Given the description of an element on the screen output the (x, y) to click on. 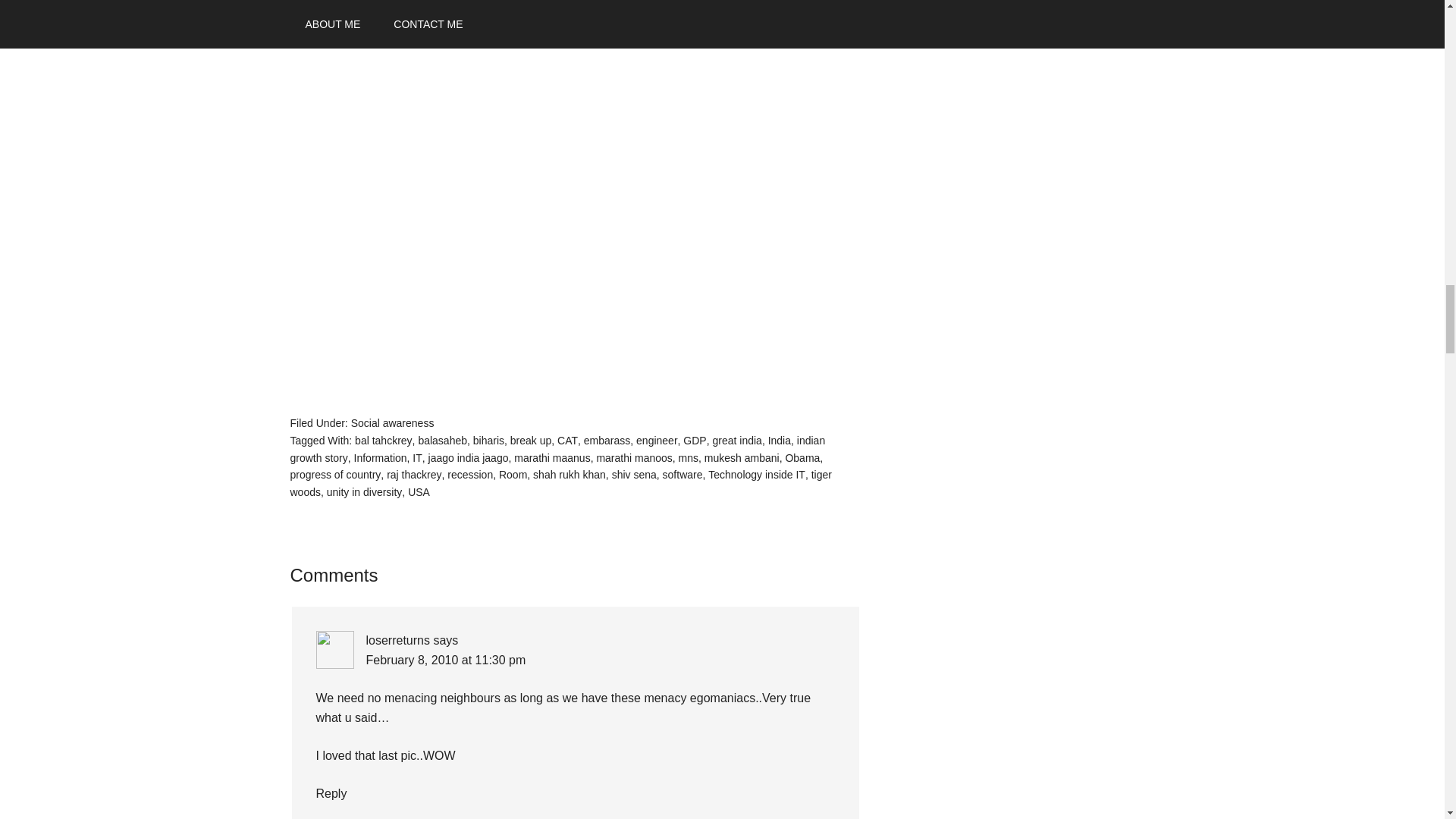
jaago india jaago (468, 458)
Technology inside IT (756, 474)
progress of country (334, 474)
mukesh ambani (741, 458)
raj thackrey (414, 474)
break up (531, 440)
Room (513, 474)
marathi manoos (633, 458)
mns (688, 458)
shah rukh khan (568, 474)
shiv sena (633, 474)
bal tahckrey (383, 440)
tiger woods (560, 482)
Information (380, 458)
great india (736, 440)
